Given the description of an element on the screen output the (x, y) to click on. 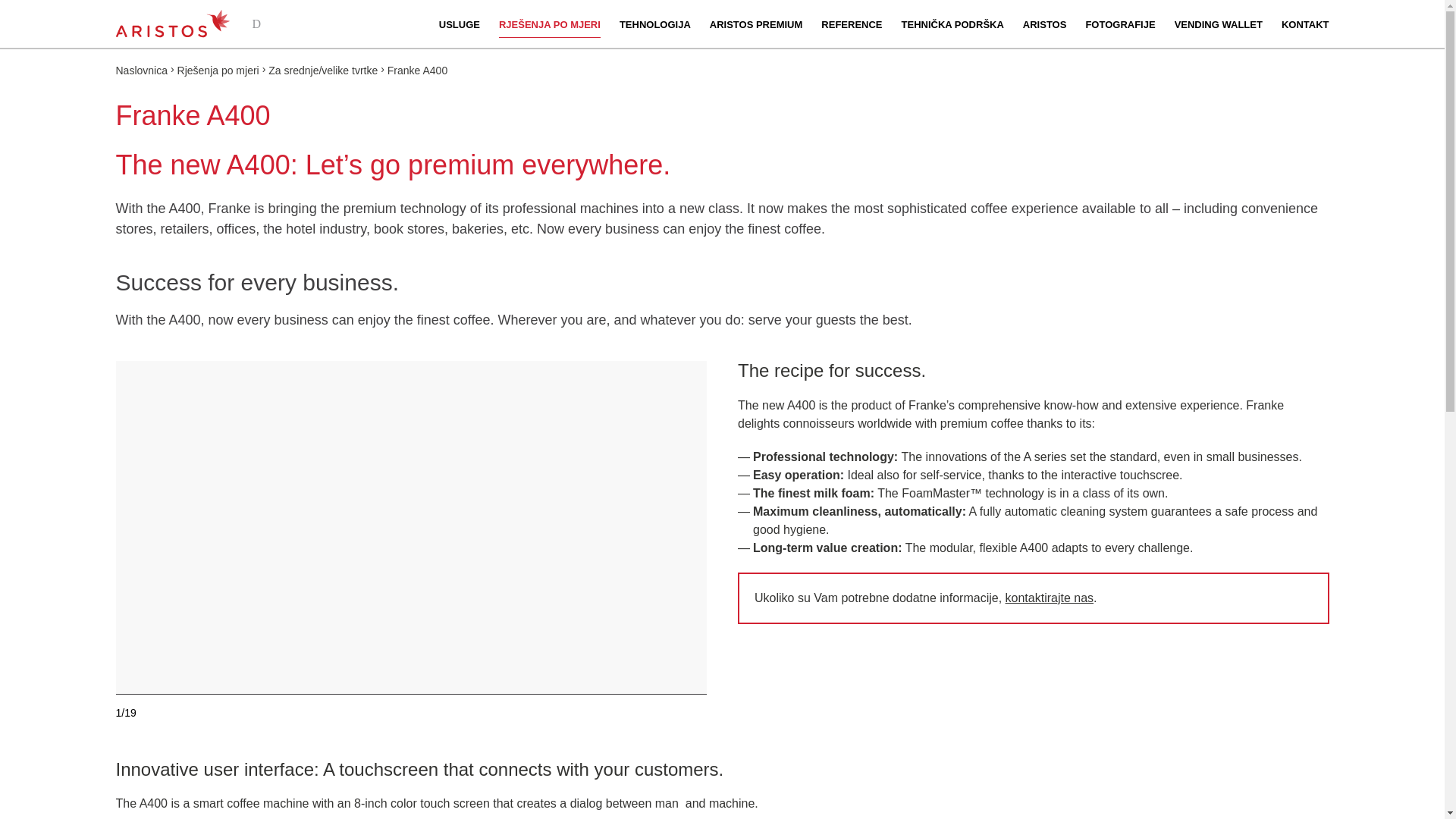
Tehnologija (655, 24)
VENDING WALLET (1218, 24)
Naslovnica (141, 70)
Aristos (171, 23)
FOTOGRAFIJE (1119, 24)
ARISTOS PREMIUM (756, 24)
TEHNOLOGIJA (655, 24)
ARISTOS (1045, 24)
Franke A400 (416, 70)
KONTAKT (1305, 24)
REFERENCE (851, 24)
